Given the description of an element on the screen output the (x, y) to click on. 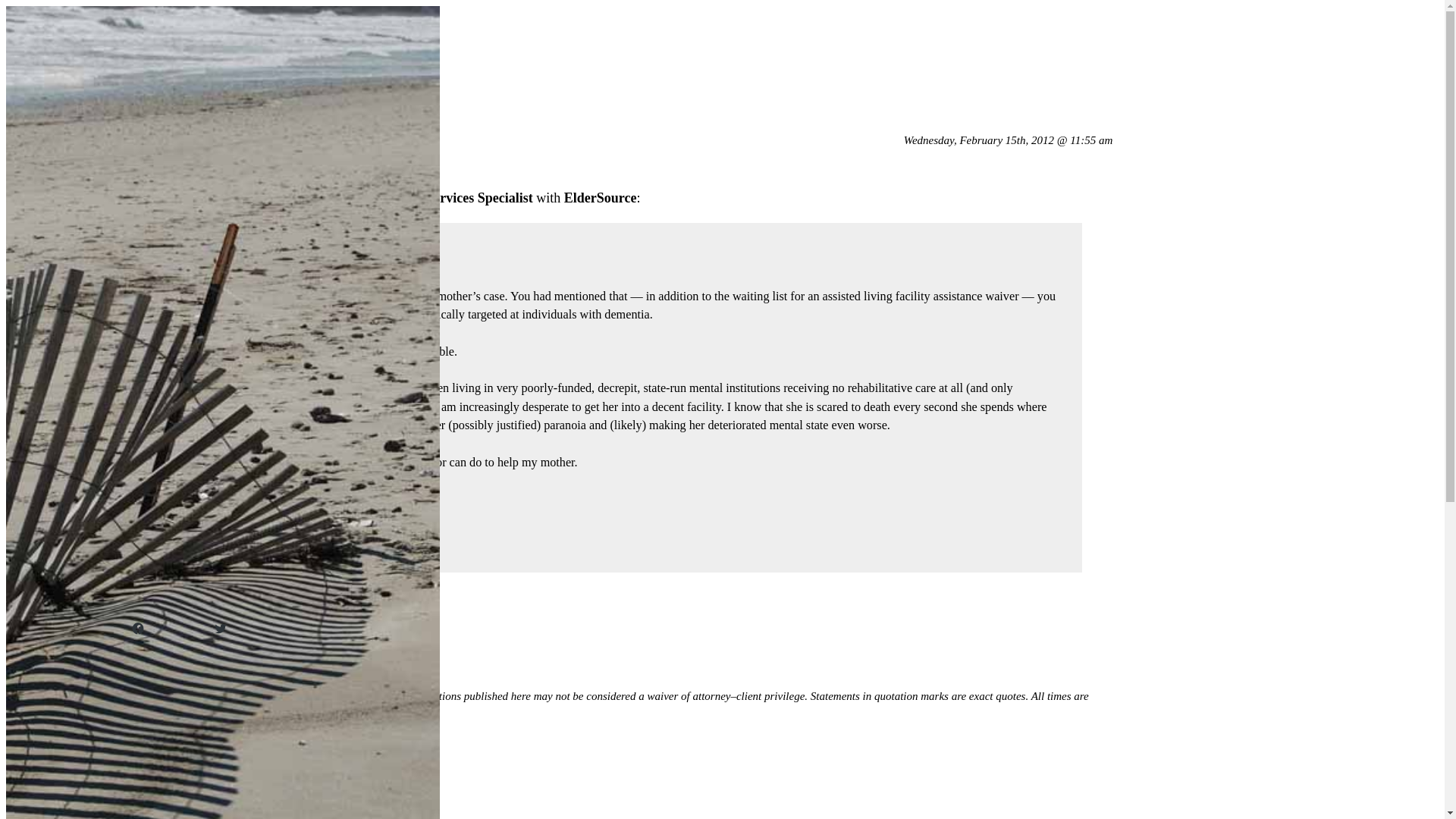
Facebook (161, 628)
A Plea for Help (212, 152)
Twitter (237, 628)
eldersource (163, 785)
email (213, 785)
Next Post (156, 109)
february 2012 (201, 815)
Previous Post (167, 79)
florida department of elder affairs (324, 785)
previous post (167, 79)
2012 (146, 815)
Click to share on Twitter (237, 628)
Click to share on Facebook (161, 628)
next post (156, 109)
medicaid (445, 785)
